Given the description of an element on the screen output the (x, y) to click on. 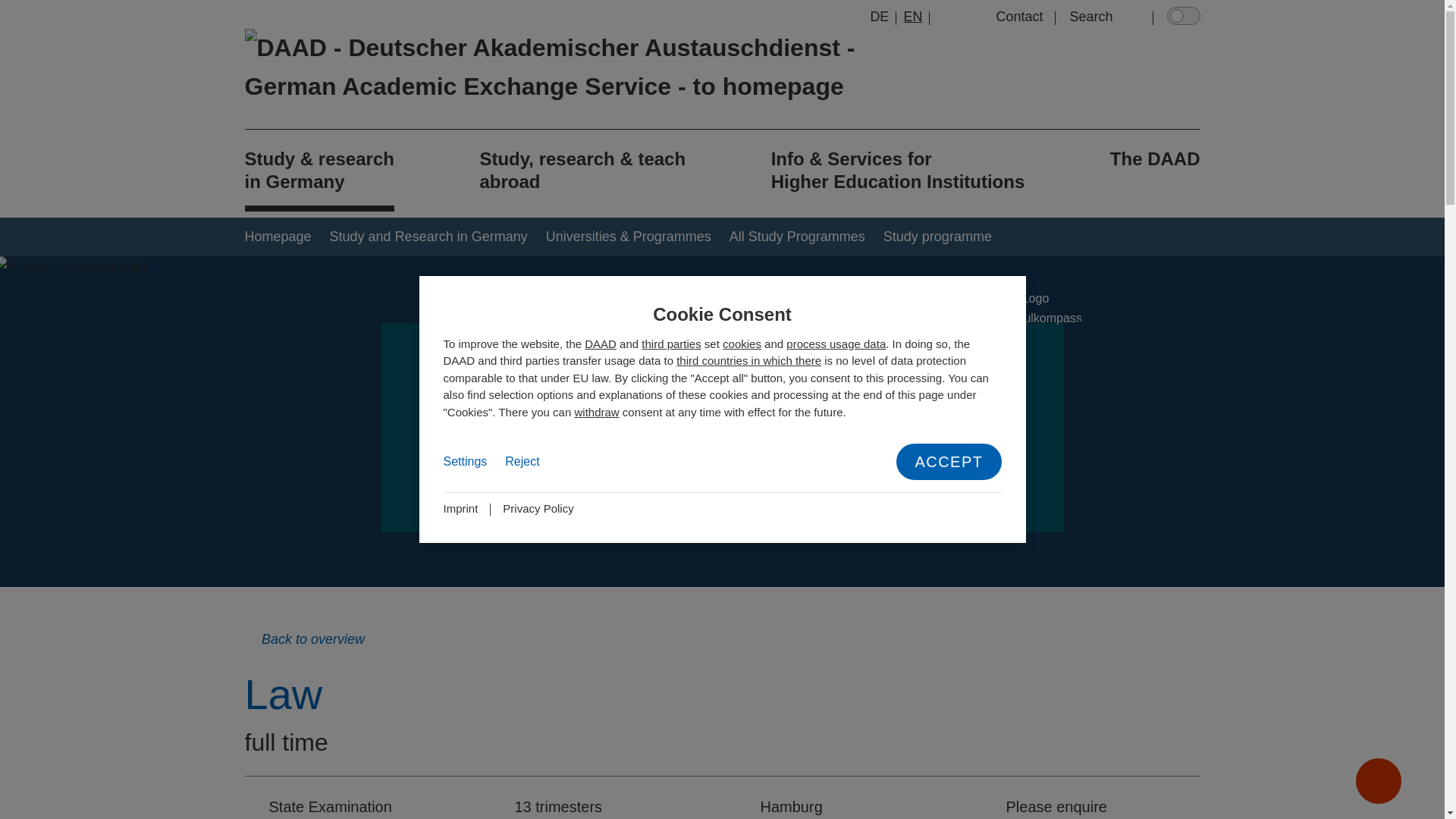
cookies (741, 343)
Homepage (277, 236)
Settings (464, 461)
Study programme (930, 236)
third parties (671, 343)
Imprint (459, 508)
third countries in which there (749, 359)
All Study Programmes (790, 236)
DAAD (600, 343)
The DAAD (1154, 170)
